Given the description of an element on the screen output the (x, y) to click on. 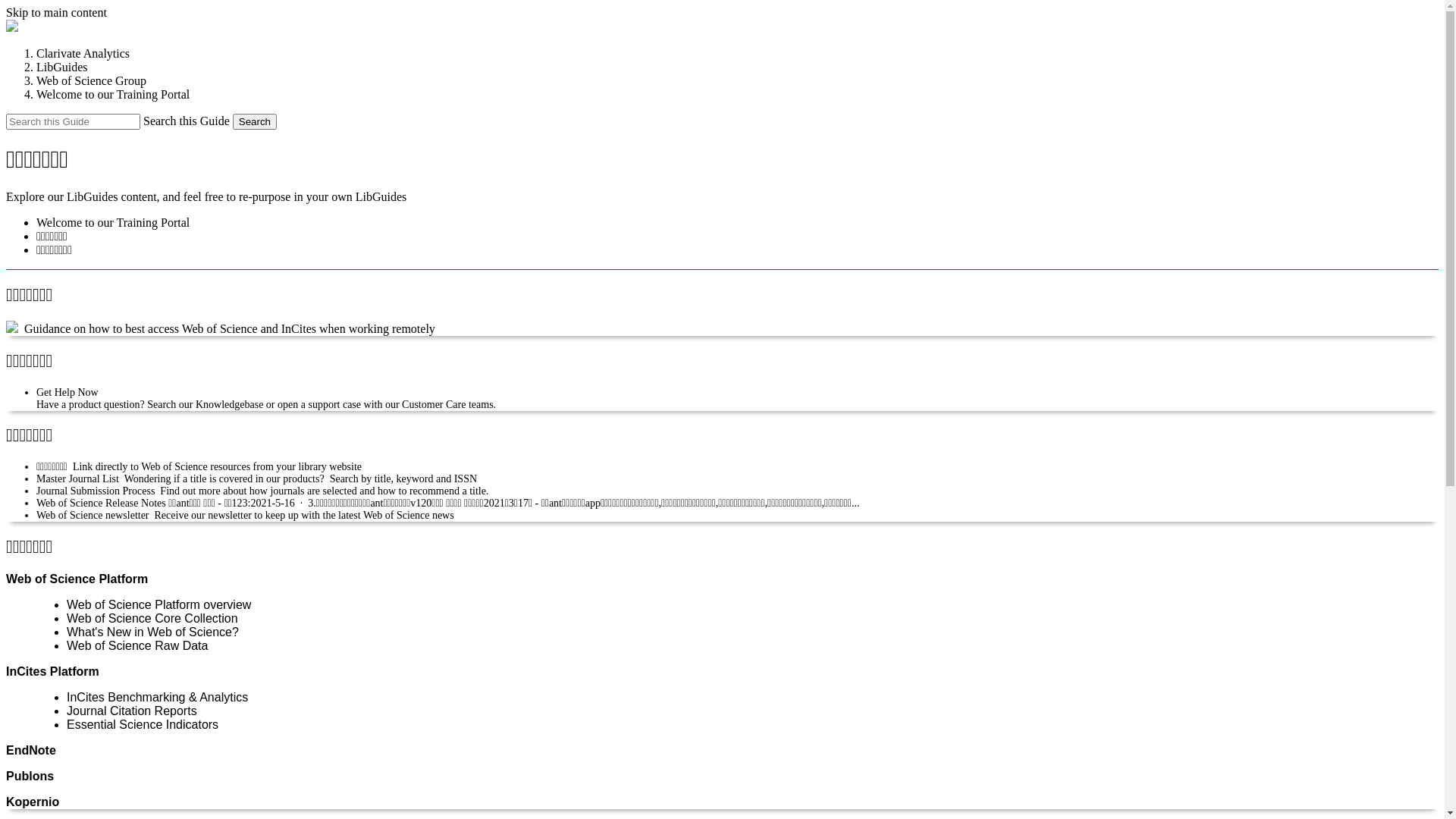
Search Element type: text (254, 121)
